Given the description of an element on the screen output the (x, y) to click on. 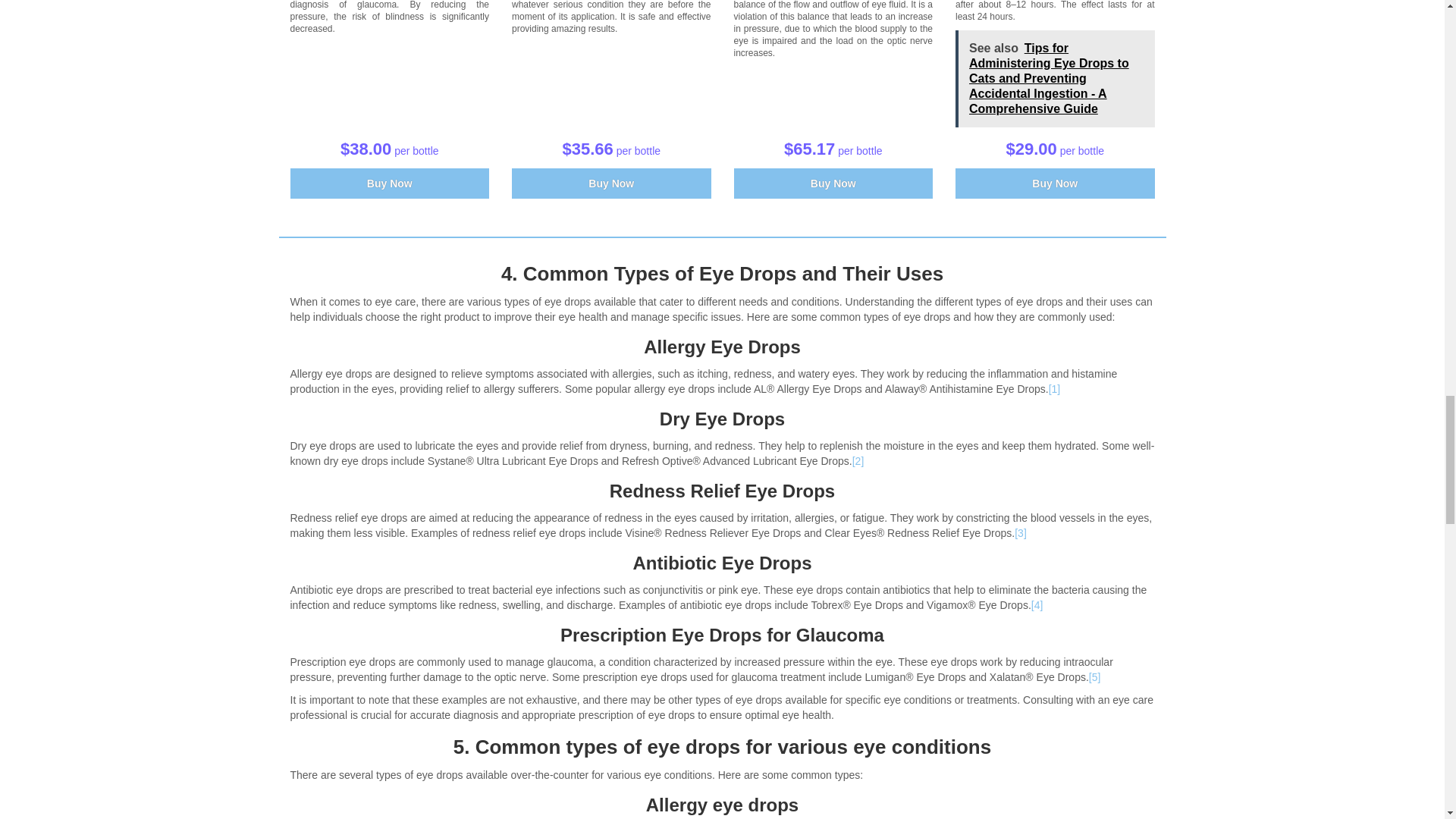
Buy Now (389, 183)
Buy Now (611, 183)
Buy Now (389, 183)
Buy Now (1054, 183)
Buy Now (833, 183)
Buy Now (611, 183)
